Given the description of an element on the screen output the (x, y) to click on. 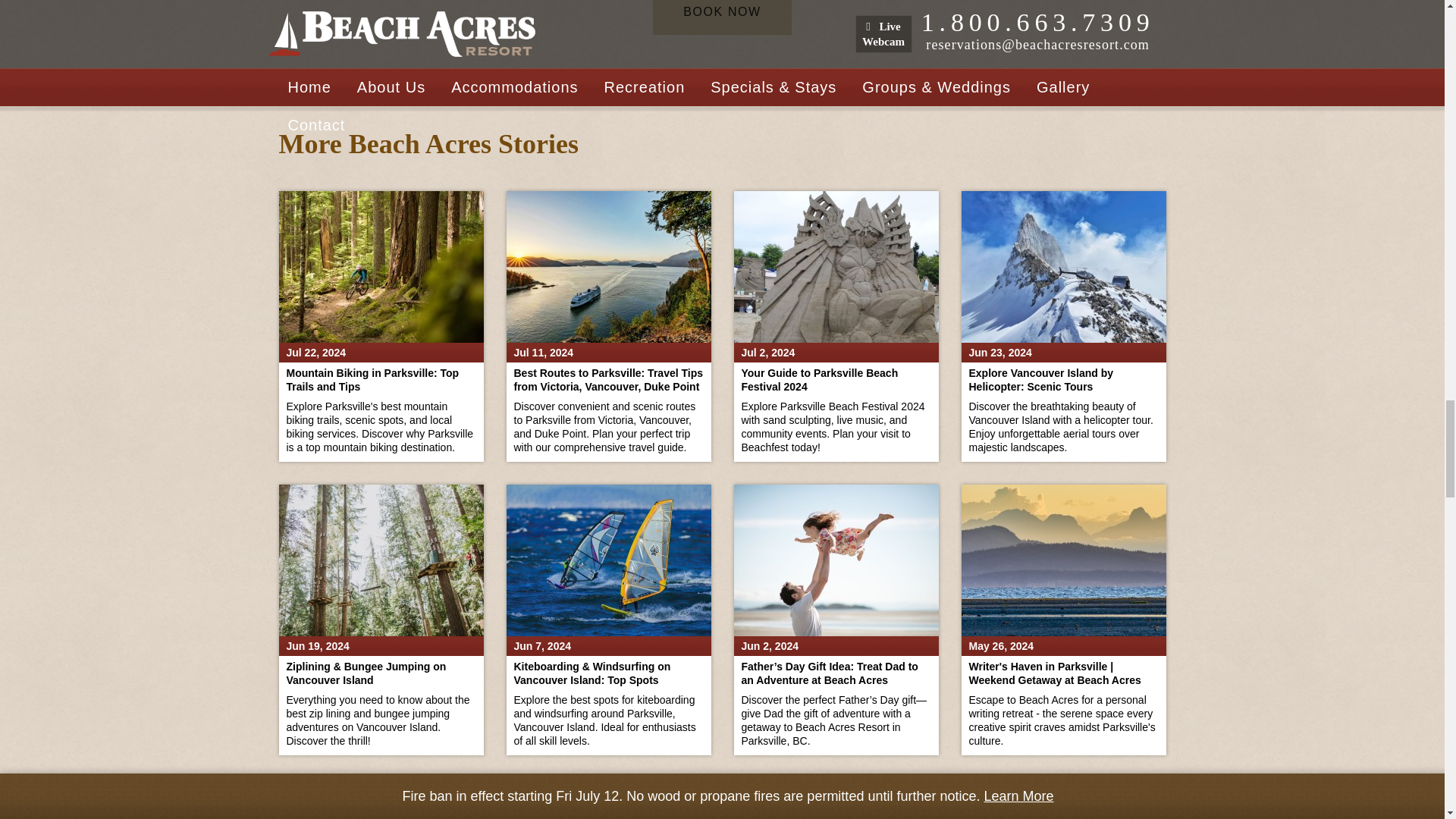
BOOK NOW (722, 17)
